Given the description of an element on the screen output the (x, y) to click on. 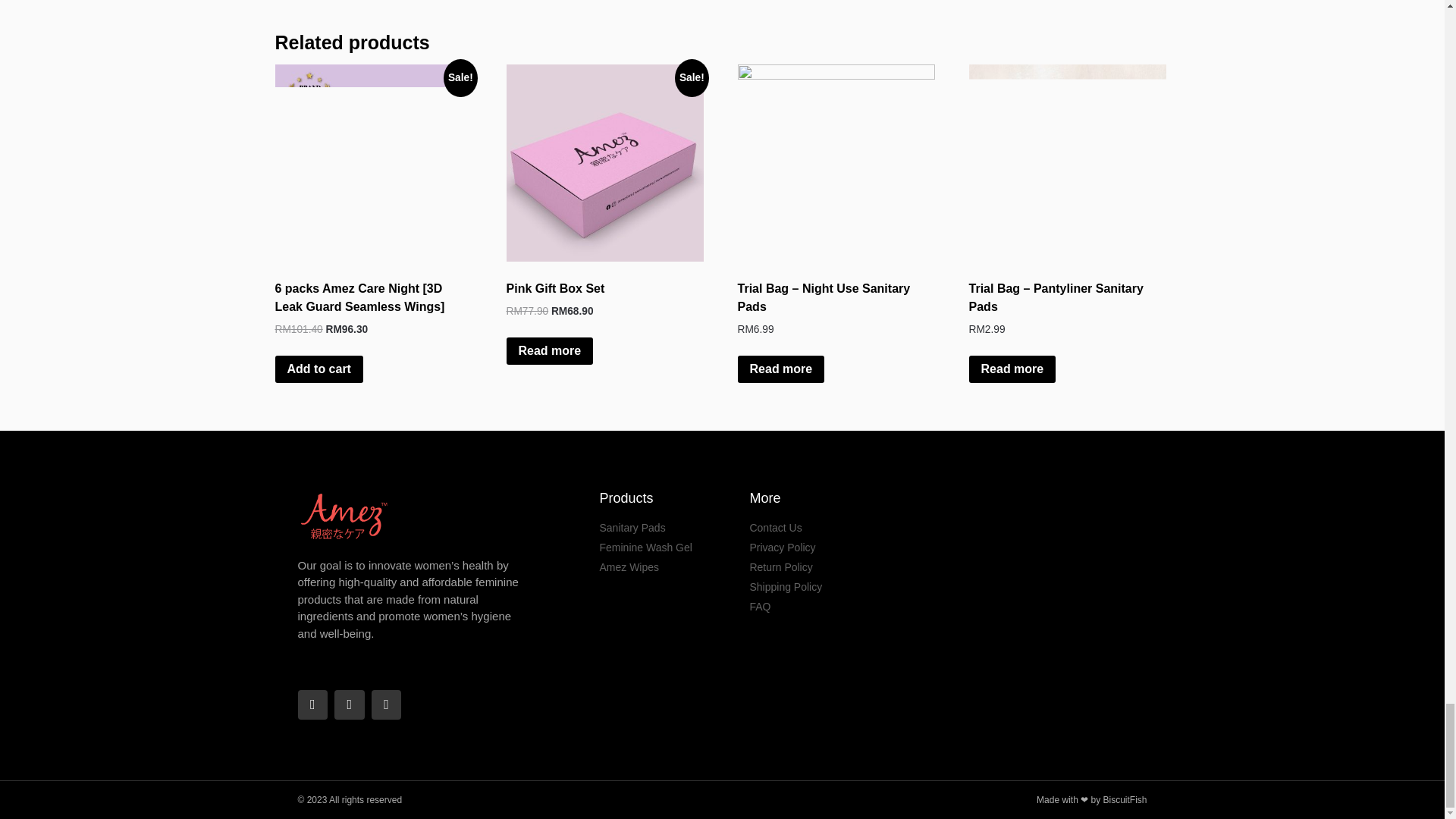
Read more (781, 369)
Read more (1013, 369)
Read more (550, 350)
Add to cart (318, 369)
